Given the description of an element on the screen output the (x, y) to click on. 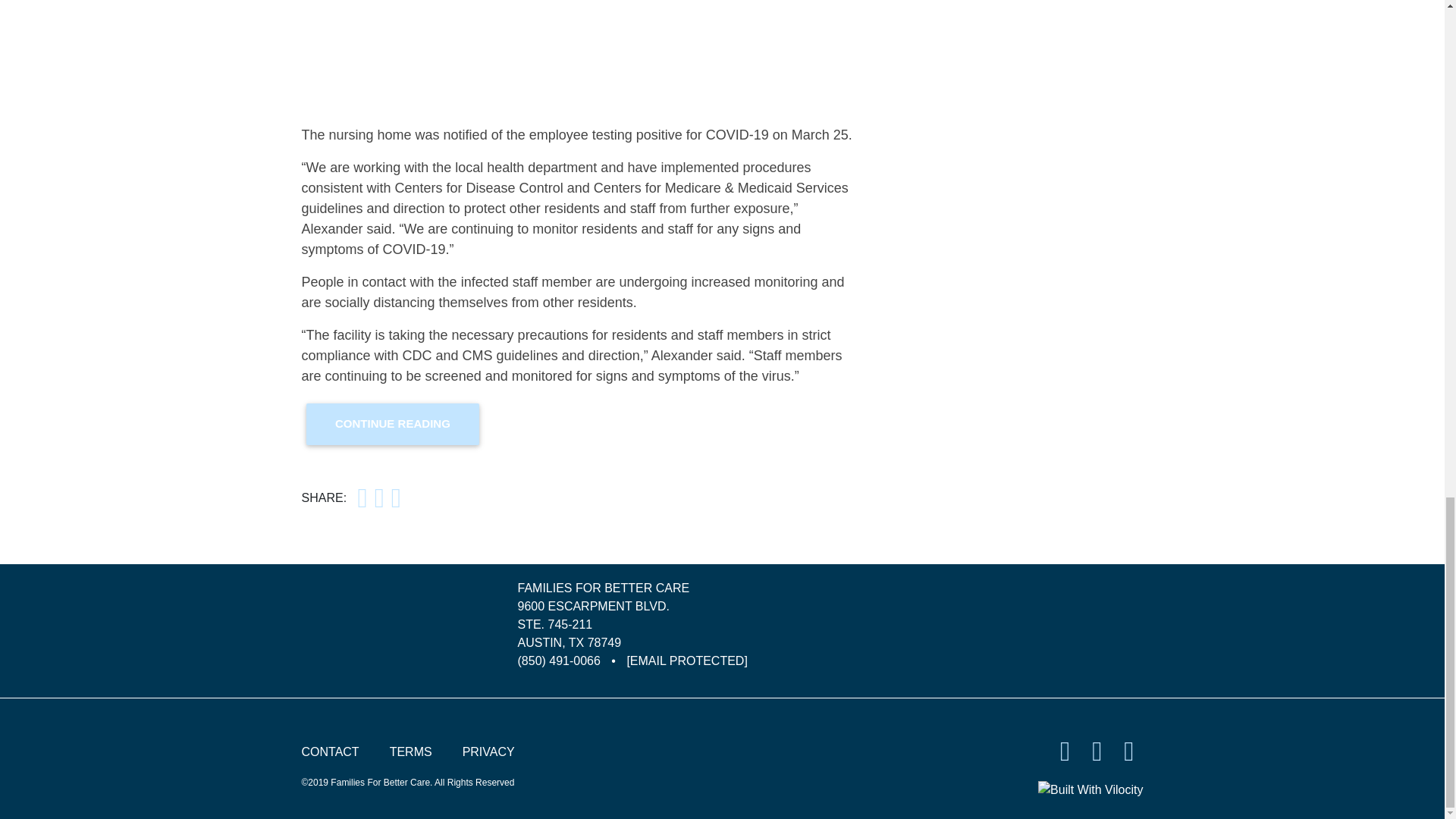
CONTINUE READING (392, 424)
